Given the description of an element on the screen output the (x, y) to click on. 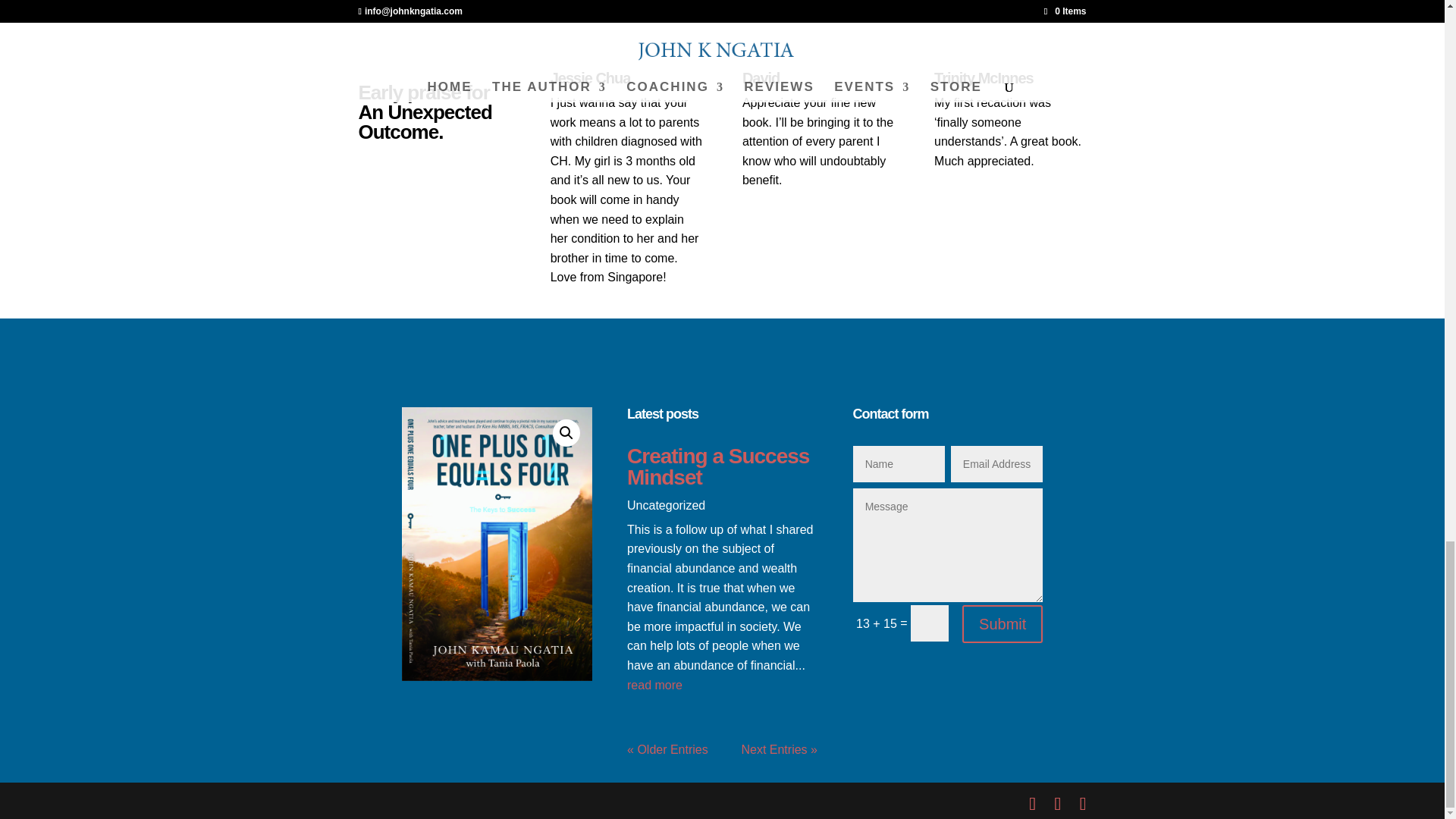
Creating a Success Mindset (718, 466)
Submit (1002, 623)
Uncategorized (665, 504)
read more (721, 685)
